Given the description of an element on the screen output the (x, y) to click on. 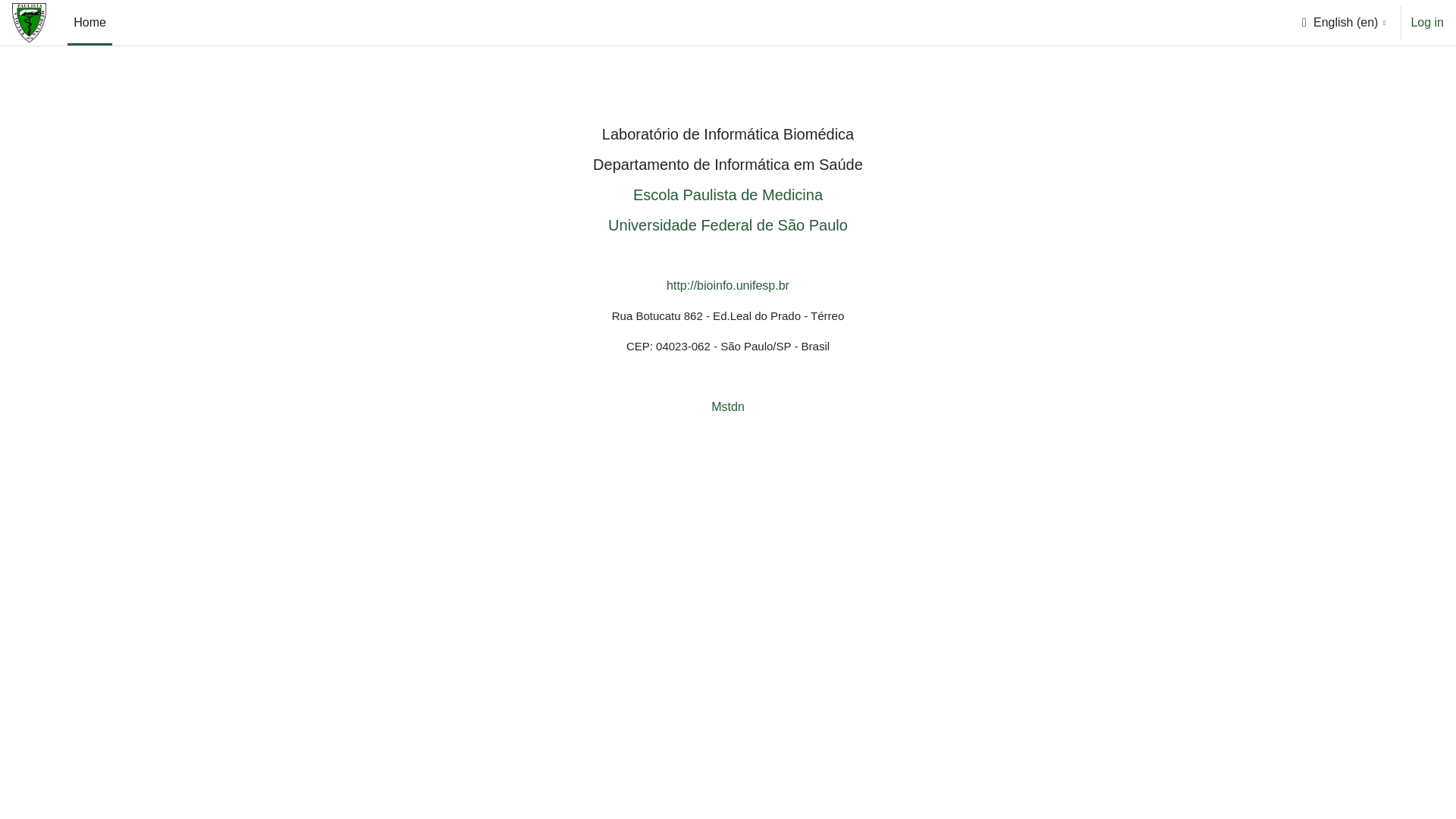
Home Element type: text (89, 22)
Escola Paulista de Medicina Element type: text (727, 194)
http://bioinfo.unifesp.br Element type: text (727, 285)
Log in Element type: text (1426, 22)
Mstdn Element type: text (727, 406)
English (en) Element type: text (1342, 22)
